Given the description of an element on the screen output the (x, y) to click on. 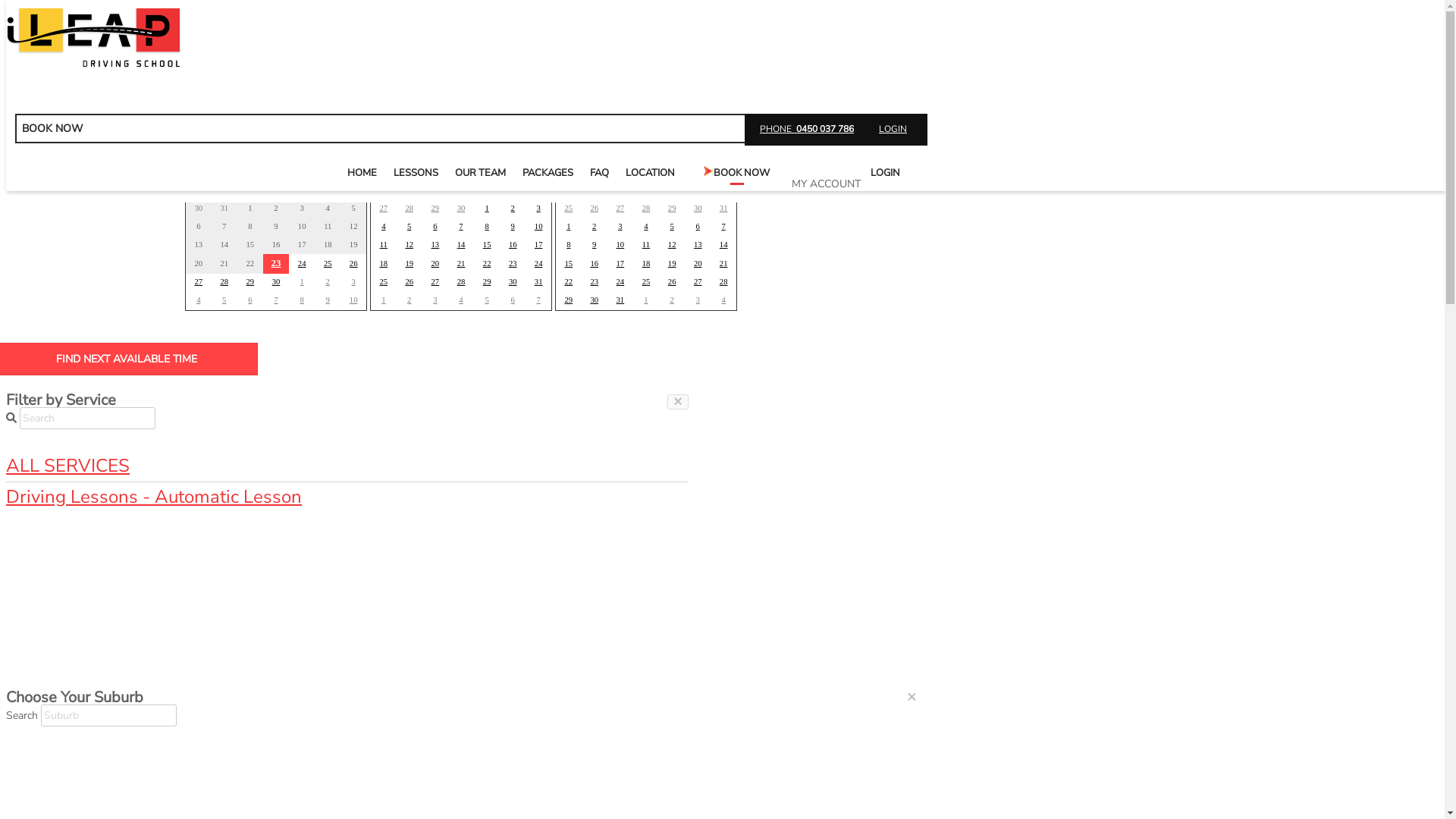
27 Element type: text (383, 207)
LOGIN Element type: text (892, 128)
29 Element type: text (568, 299)
2 Element type: text (594, 226)
27 Element type: text (435, 281)
LESSONS Element type: text (415, 173)
Nov Element type: text (385, 170)
29 Element type: text (250, 281)
28 Element type: text (223, 281)
22 Element type: text (487, 263)
13 Element type: text (697, 244)
Dec Element type: text (356, 170)
4 Element type: text (460, 299)
18 Element type: text (383, 263)
Jan Element type: text (541, 170)
27 Element type: text (697, 281)
7 Element type: text (275, 299)
31 Element type: text (620, 299)
PACKAGES Element type: text (547, 173)
20 Element type: text (697, 263)
9 Element type: text (327, 299)
OUR TEAM Element type: text (480, 173)
3 Element type: text (538, 207)
11 Element type: text (383, 244)
31 Element type: text (723, 207)
5 Element type: text (223, 299)
27 Element type: text (198, 281)
4 Element type: text (723, 299)
21 Element type: text (461, 263)
23 Element type: text (593, 281)
6 Element type: text (249, 299)
Dec Element type: text (570, 170)
26 Element type: text (593, 207)
PHONE  0450 037 786 Element type: text (806, 128)
6 Element type: text (512, 299)
23 Element type: text (275, 262)
5 Element type: text (409, 226)
14 Element type: text (723, 244)
26 Element type: text (672, 281)
3 Element type: text (697, 299)
8 Element type: text (301, 299)
Oct Element type: text (200, 170)
28 Element type: text (723, 281)
2 Element type: text (671, 299)
4 Element type: text (198, 299)
1 Element type: text (301, 281)
HOME Element type: text (361, 173)
22 Element type: text (568, 281)
16 Element type: text (512, 244)
24 Element type: text (302, 263)
13 Element type: text (435, 244)
28 Element type: text (408, 207)
12 Element type: text (408, 244)
6 Element type: text (434, 226)
26 Element type: text (408, 281)
15 Element type: text (487, 244)
7 Element type: text (723, 226)
10 Element type: text (620, 244)
17 Element type: text (538, 244)
1 Element type: text (383, 299)
2 Element type: text (409, 299)
2 Element type: text (512, 207)
25 Element type: text (327, 263)
2 Element type: text (327, 281)
8 Element type: text (568, 244)
25 Element type: text (646, 281)
LOGIN Element type: text (884, 173)
19 Element type: text (672, 263)
3 Element type: text (434, 299)
16 Element type: text (593, 263)
9 Element type: text (594, 244)
BOOK NOW Element type: text (736, 172)
21 Element type: text (723, 263)
14 Element type: text (461, 244)
6 Element type: text (697, 226)
19 Element type: text (408, 263)
31 Element type: text (538, 281)
28 Element type: text (646, 207)
24 Element type: text (620, 281)
18 Element type: text (646, 263)
30 Element type: text (593, 299)
15 Element type: text (568, 263)
4 Element type: text (645, 226)
FAQ Element type: text (599, 173)
10 Element type: text (538, 226)
5 Element type: text (671, 226)
29 Element type: text (672, 207)
7 Element type: text (538, 299)
4 Element type: text (383, 226)
3 Element type: text (619, 226)
3 Element type: text (353, 281)
ALL SERVICES Element type: text (347, 465)
28 Element type: text (461, 281)
12 Element type: text (672, 244)
7 Element type: text (460, 226)
Driving Lessons - Automatic Lesson Element type: text (347, 497)
1 Element type: text (645, 299)
Feb Element type: text (726, 170)
30 Element type: text (512, 281)
30 Element type: text (276, 281)
17 Element type: text (620, 263)
10 Element type: text (353, 299)
9 Element type: text (512, 226)
11 Element type: text (645, 244)
25 Element type: text (568, 207)
LOCATION Element type: text (649, 173)
8 Element type: text (486, 226)
20 Element type: text (435, 263)
29 Element type: text (435, 207)
29 Element type: text (487, 281)
1 Element type: text (568, 226)
5 Element type: text (486, 299)
27 Element type: text (620, 207)
FIND NEXT AVAILABLE TIME Element type: text (460, 122)
25 Element type: text (383, 281)
30 Element type: text (461, 207)
BOOK NOW Element type: text (463, 128)
23 Element type: text (512, 263)
30 Element type: text (697, 207)
1 Element type: text (486, 207)
26 Element type: text (353, 263)
24 Element type: text (538, 263)
